Given the description of an element on the screen output the (x, y) to click on. 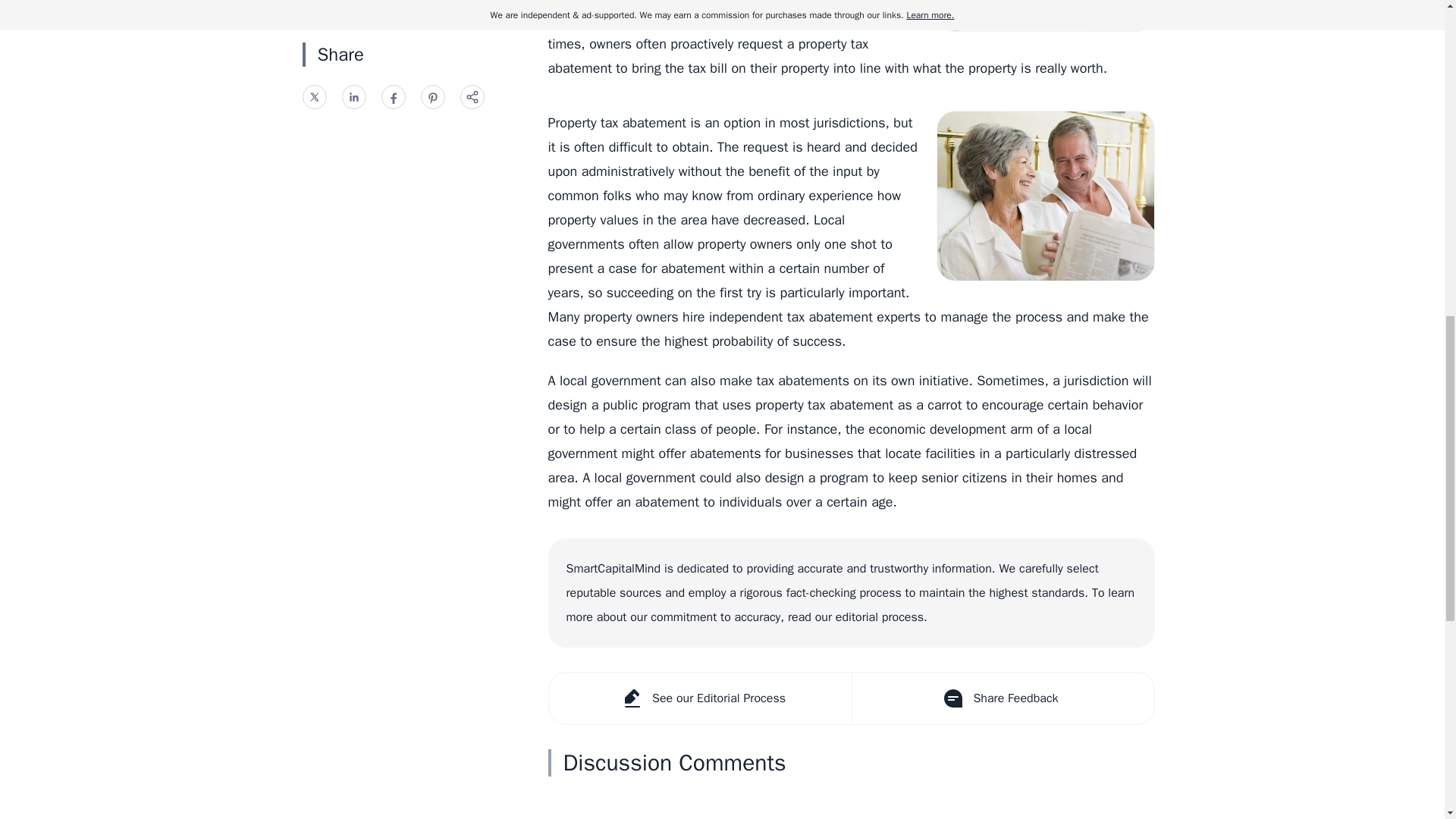
See our Editorial Process (699, 697)
Share Feedback (1001, 697)
